Given the description of an element on the screen output the (x, y) to click on. 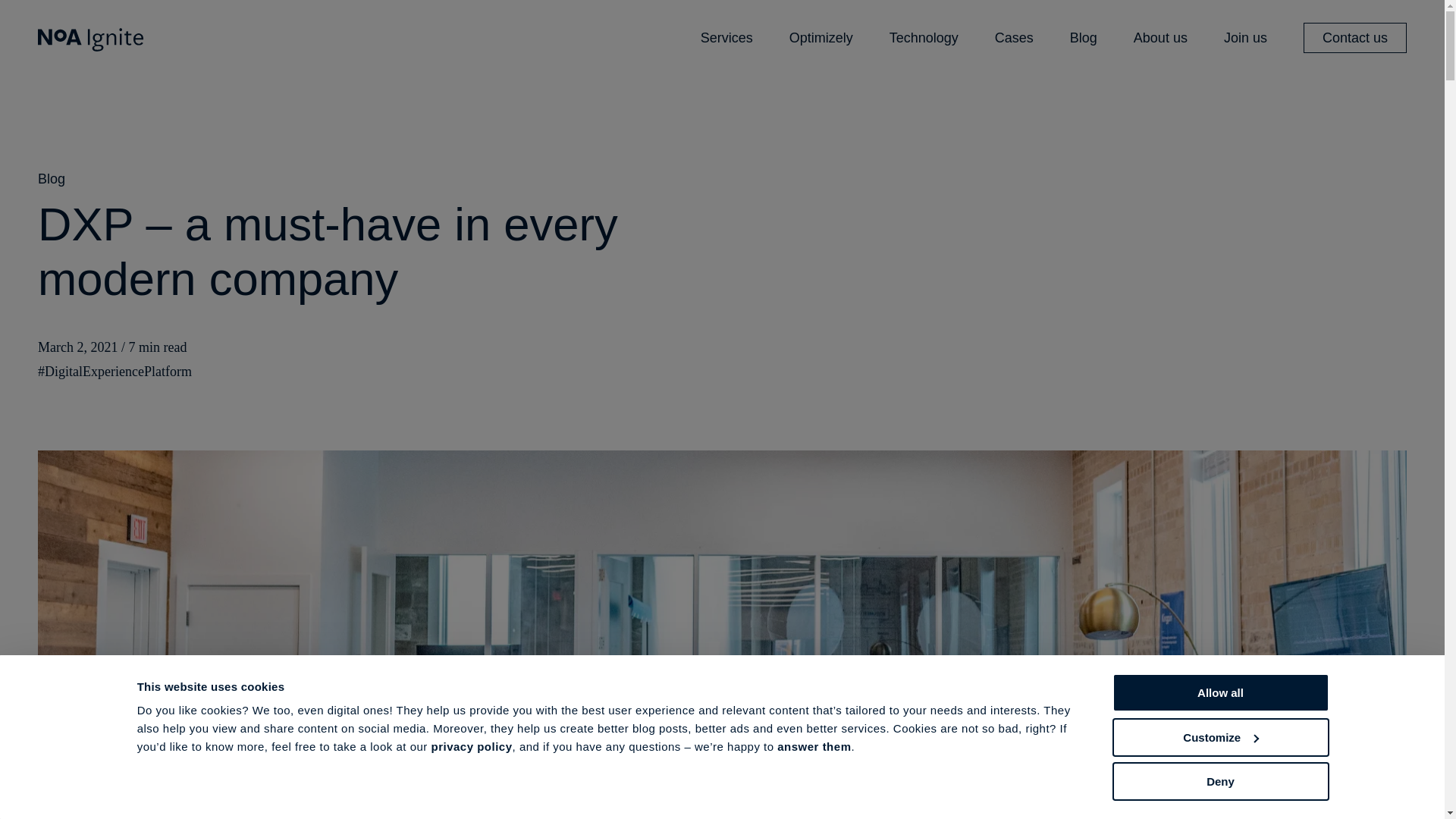
NoA Ignite Homepage (90, 37)
answer them (813, 746)
privacy policy (471, 746)
